Given the description of an element on the screen output the (x, y) to click on. 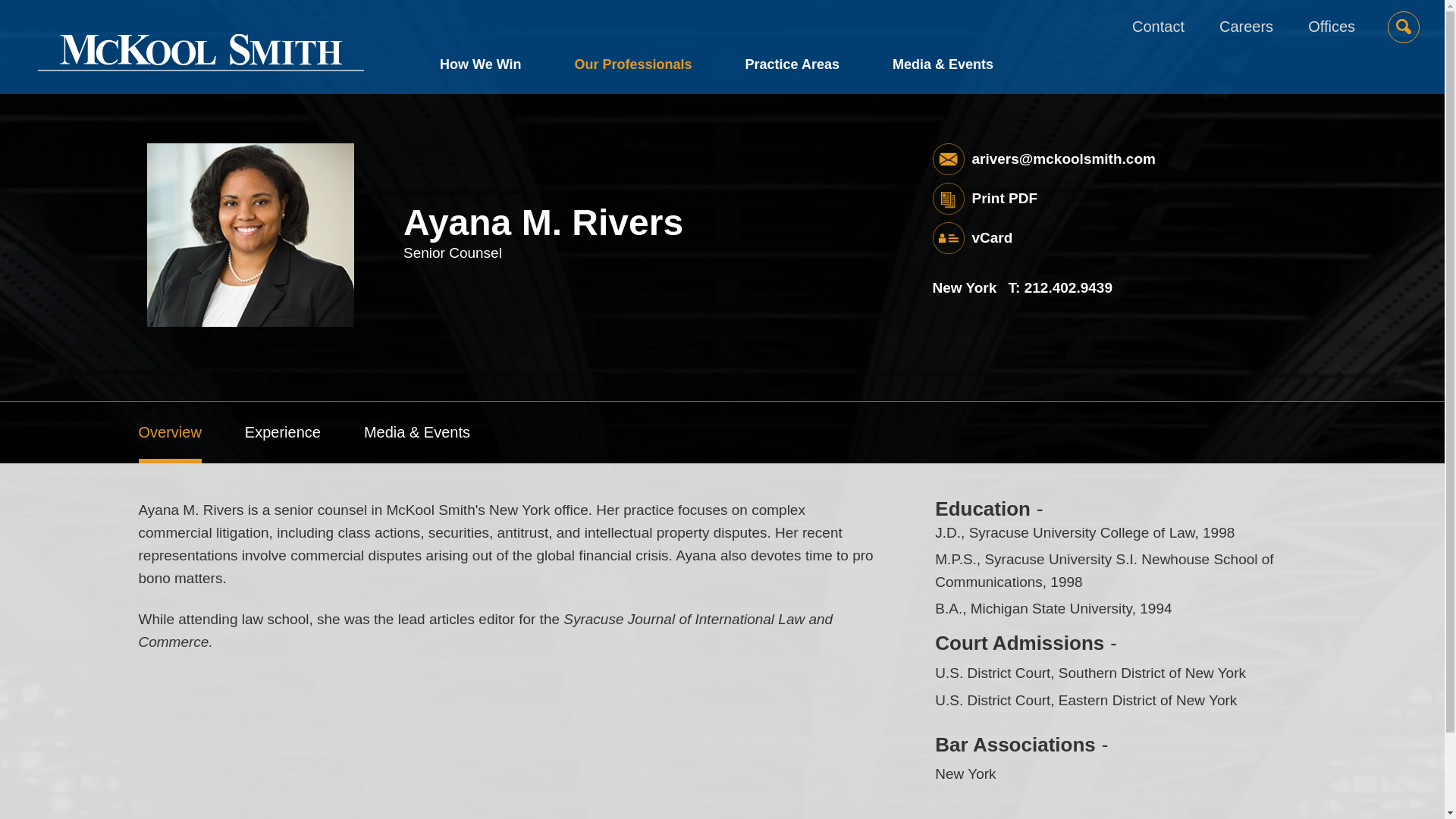
Practice Areas (792, 68)
Main Content (667, 19)
Our Professionals (632, 68)
Main Menu (674, 19)
Menu (674, 19)
How We Win (493, 68)
